Given the description of an element on the screen output the (x, y) to click on. 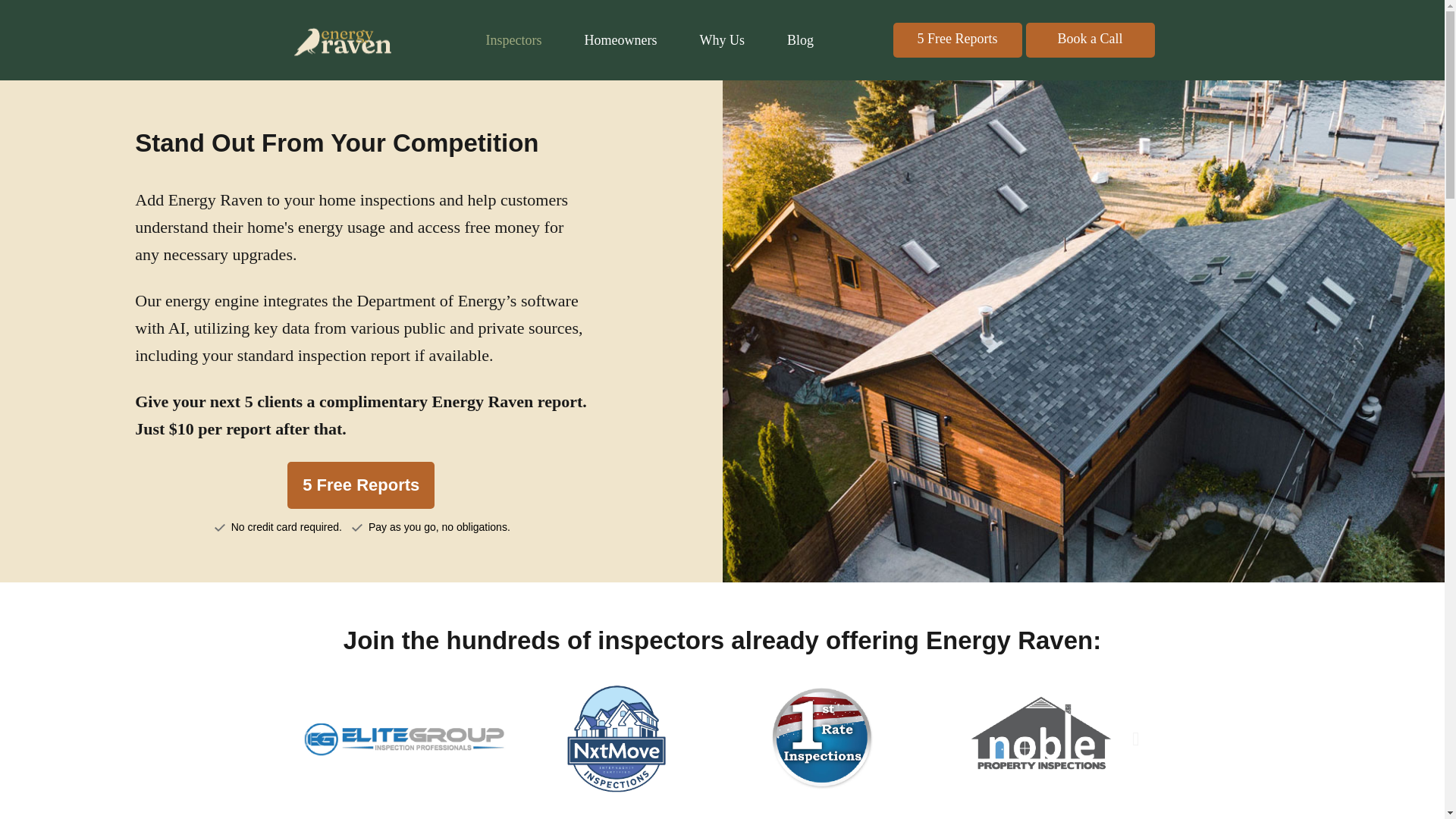
5 Free Reports (359, 484)
5 Free Reports (957, 39)
Homeowners (619, 40)
Book a Call (1090, 39)
